Given the description of an element on the screen output the (x, y) to click on. 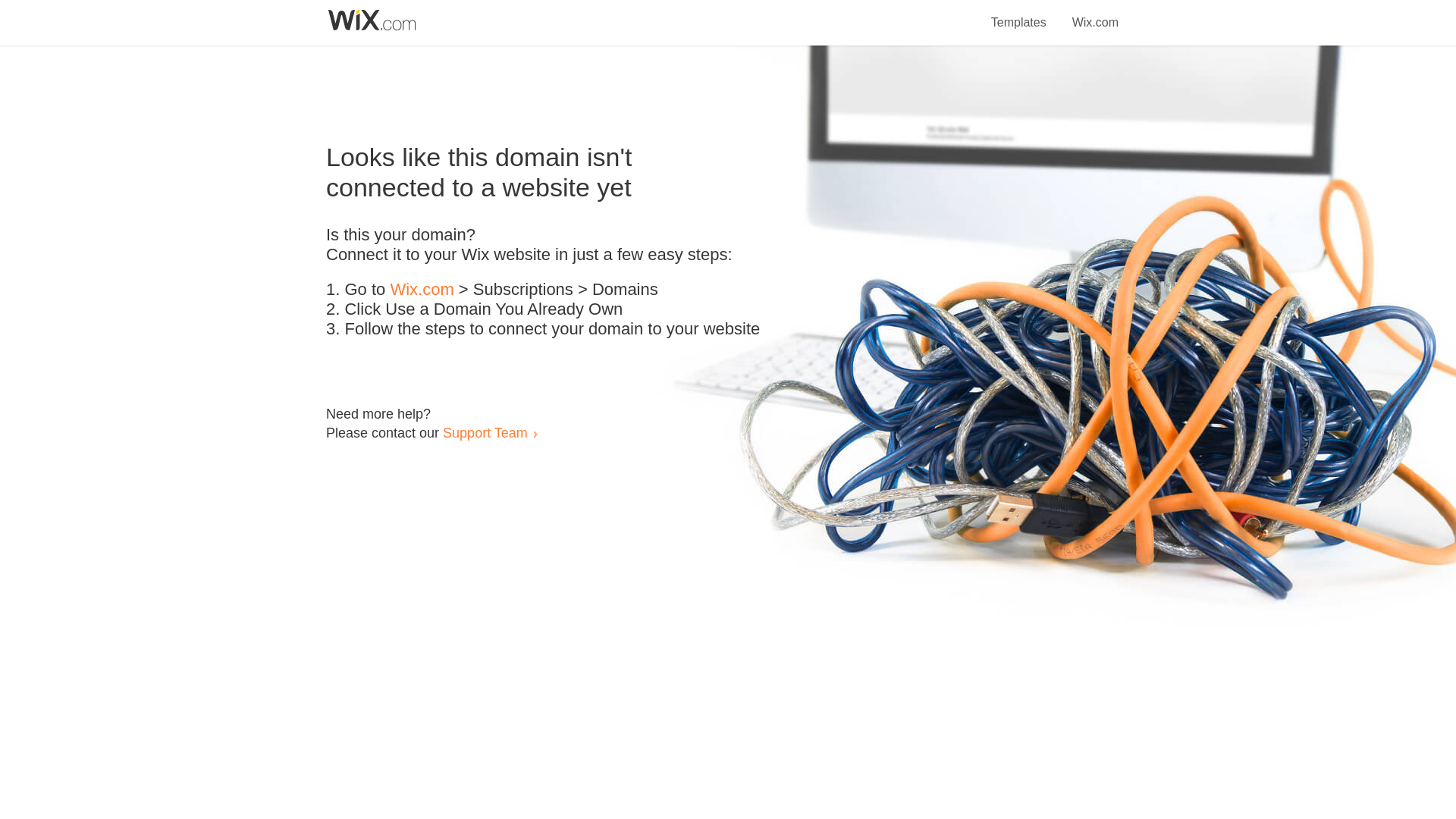
Wix.com (421, 289)
Wix.com (1095, 14)
Templates (1018, 14)
Support Team (484, 432)
